Given the description of an element on the screen output the (x, y) to click on. 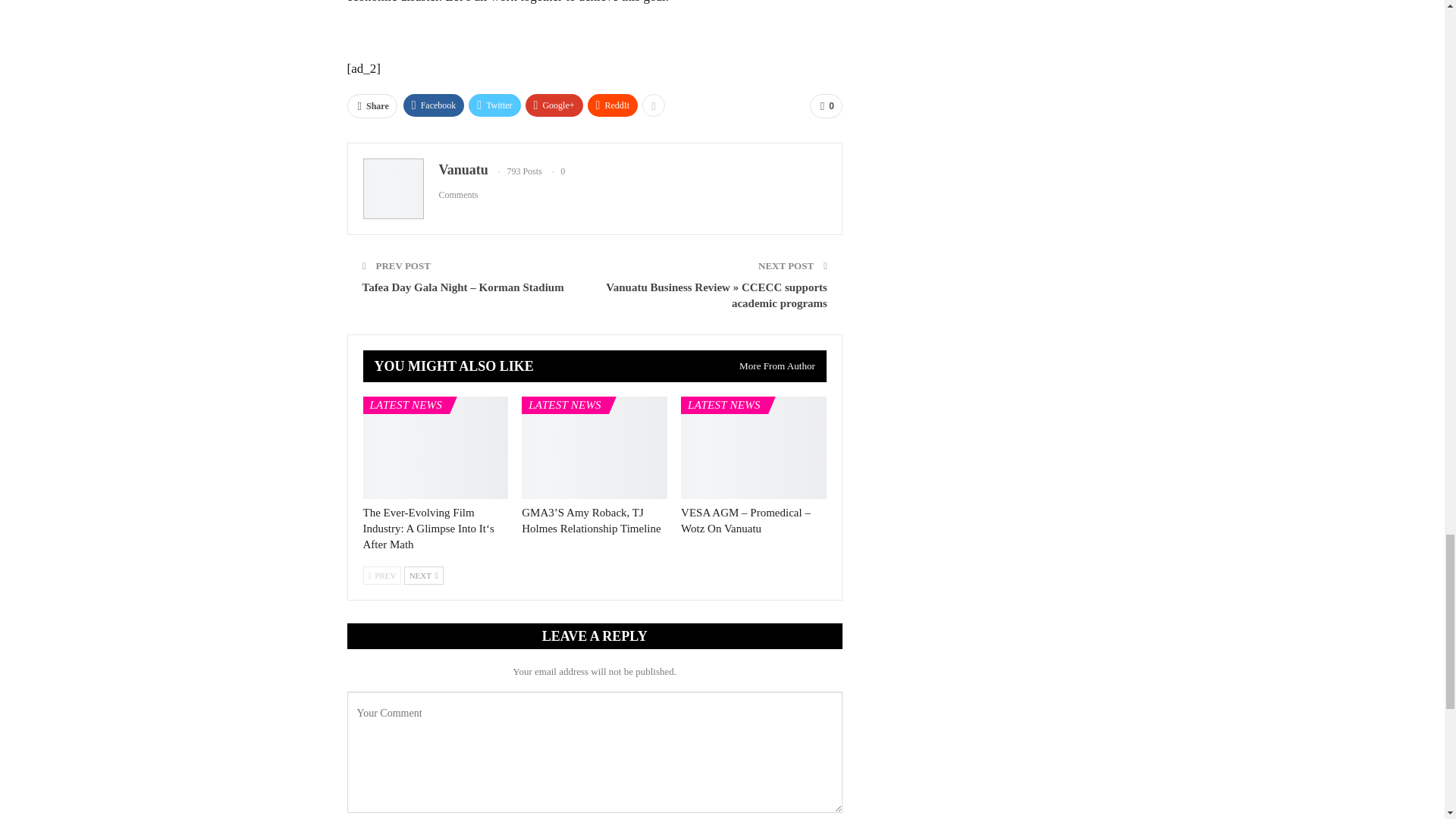
Previous (381, 575)
